Given the description of an element on the screen output the (x, y) to click on. 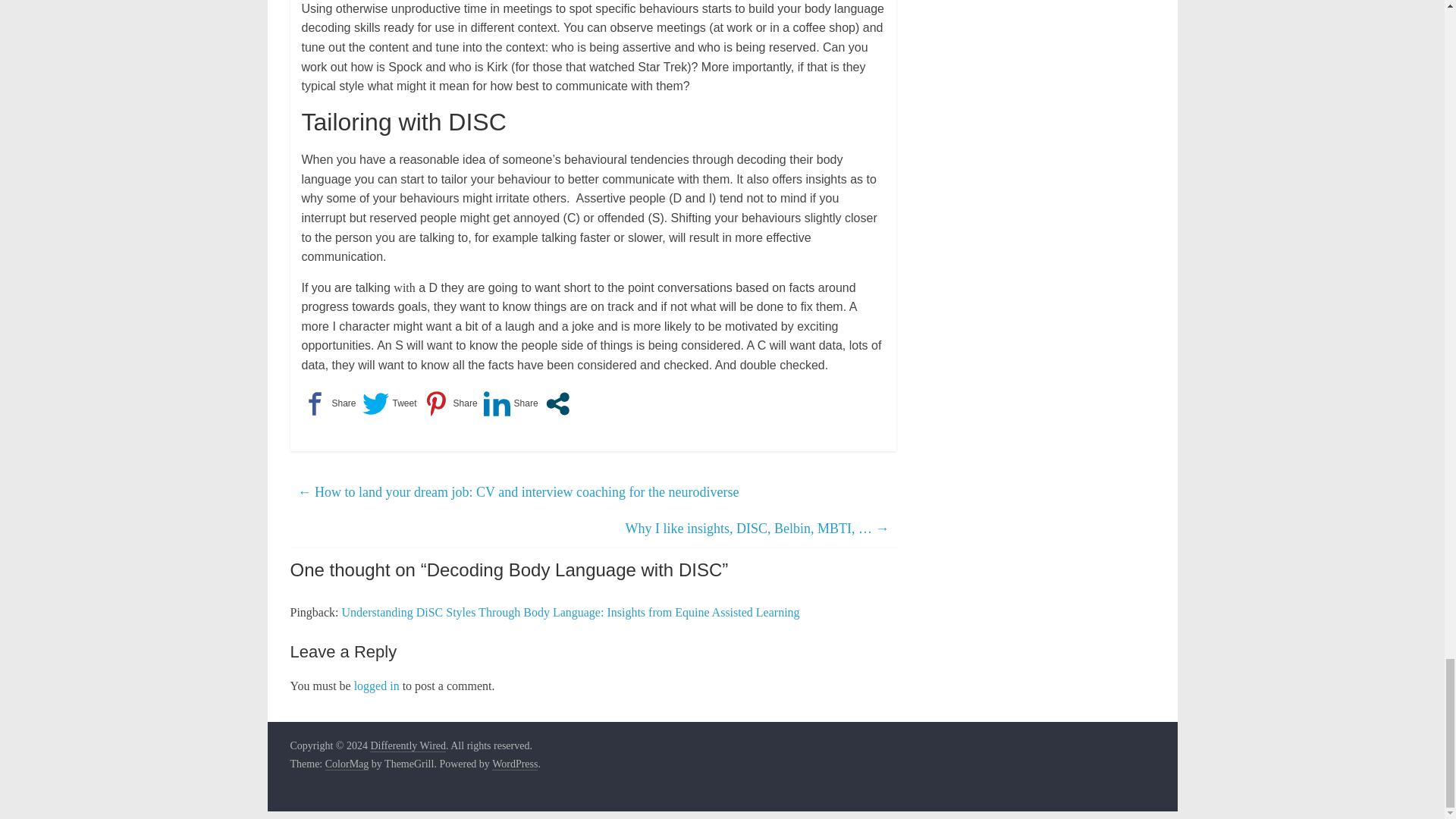
Share on Facebook (328, 403)
ColorMag (346, 764)
Tweet (389, 403)
logged in (375, 685)
Share on Pinterest (450, 403)
WordPress (514, 764)
Open modal social networks (557, 403)
Differently Wired (407, 746)
Share on Linkedin (510, 403)
